Given the description of an element on the screen output the (x, y) to click on. 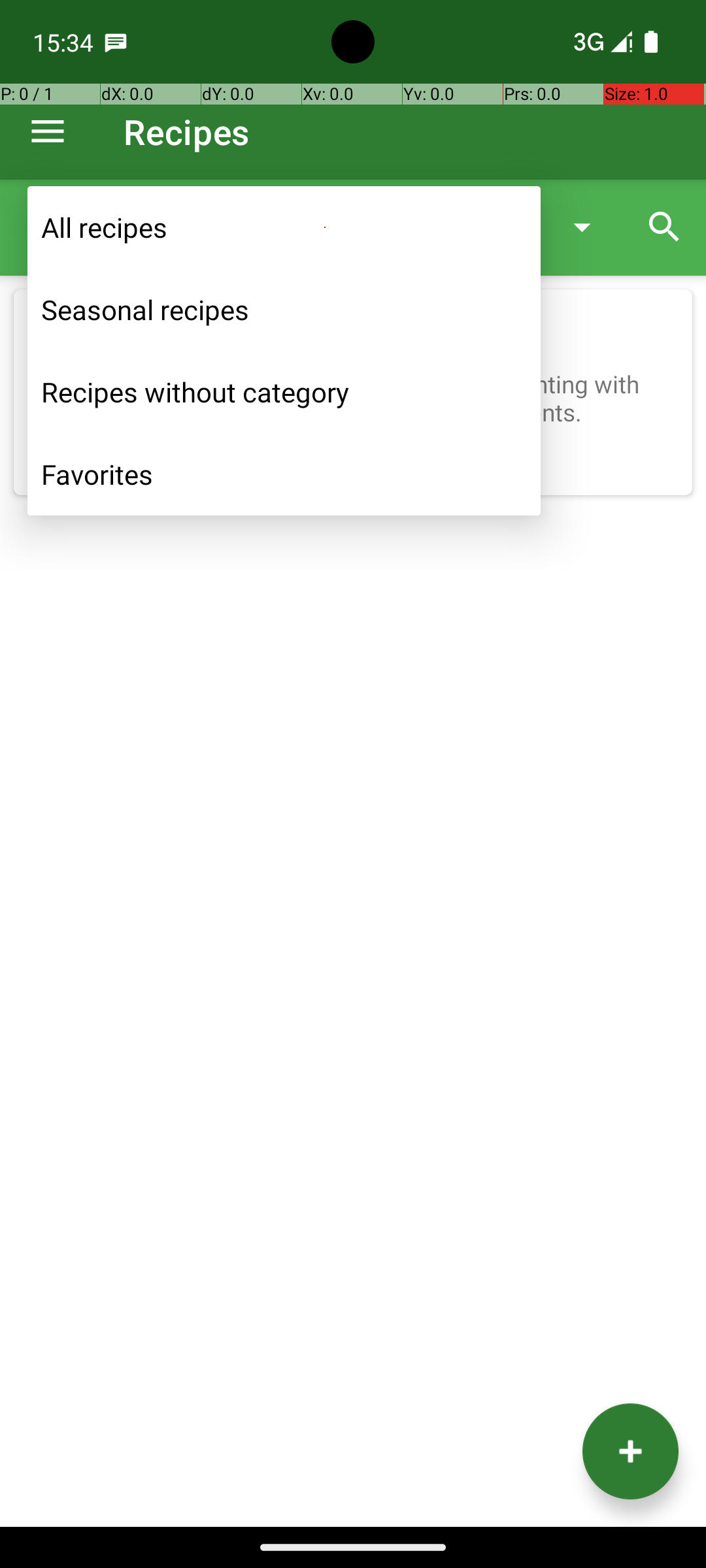
Seasonal recipes Element type: android.widget.CheckedTextView (283, 309)
Recipes without category Element type: android.widget.CheckedTextView (283, 391)
